Given the description of an element on the screen output the (x, y) to click on. 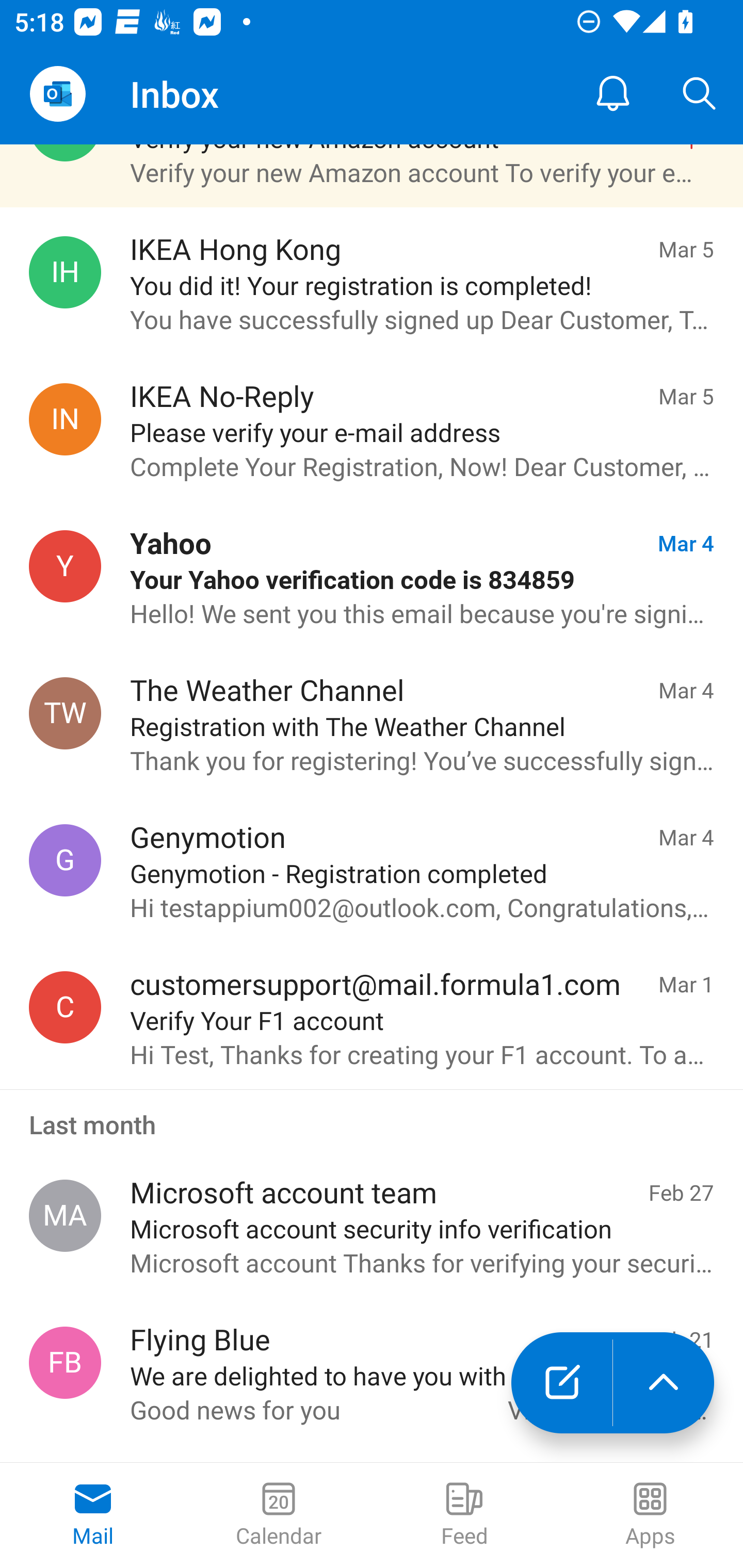
Notification Center (612, 93)
Search, ,  (699, 93)
Open Navigation Drawer (57, 94)
IKEA Hong Kong, IKHK_AWS@ikea.com.hk (64, 272)
IKEA No-Reply, noreply@ikea.com.hk (64, 418)
Yahoo, no-reply@cc.yahoo-inc.com (64, 565)
The Weather Channel, noreply@weather.com (64, 713)
Genymotion, genymotion-activation@genymobile.com (64, 860)
Flying Blue, do_not_reply@info-flyingblue.com (64, 1362)
New mail (561, 1382)
launch the extended action menu (663, 1382)
Calendar (278, 1515)
Feed (464, 1515)
Apps (650, 1515)
